Given the description of an element on the screen output the (x, y) to click on. 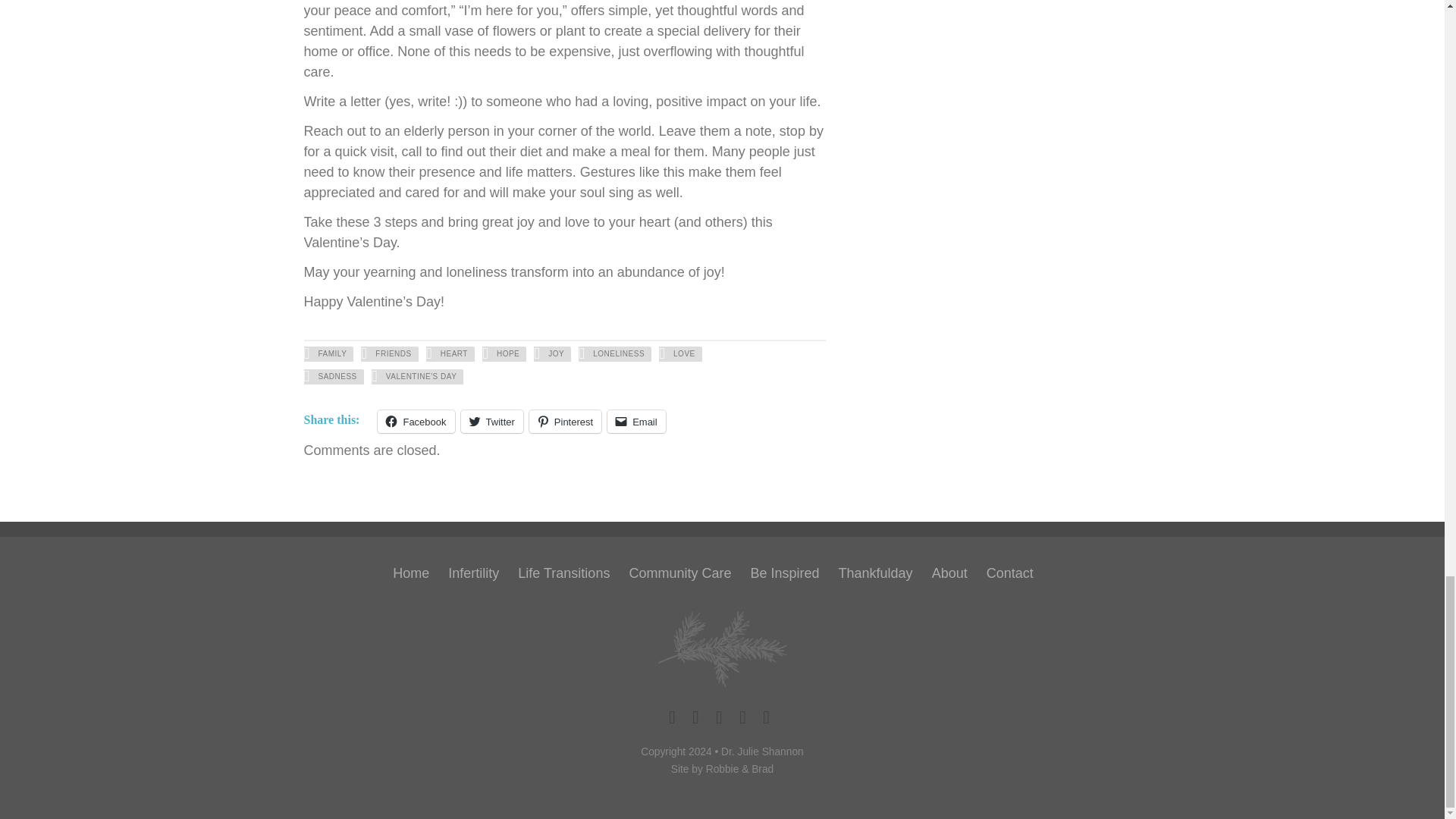
FAMILY (327, 353)
Click to email a link to a friend (636, 421)
Pinterest (565, 421)
Click to share on Pinterest (565, 421)
VALENTINE'S DAY (417, 376)
Facebook (415, 421)
LOVE (680, 353)
Click to share on Facebook (415, 421)
FRIENDS (389, 353)
HOPE (503, 353)
Twitter (491, 421)
HEART (450, 353)
JOY (552, 353)
Get blog posts via email (742, 716)
Follow us on Facebook (671, 716)
